Given the description of an element on the screen output the (x, y) to click on. 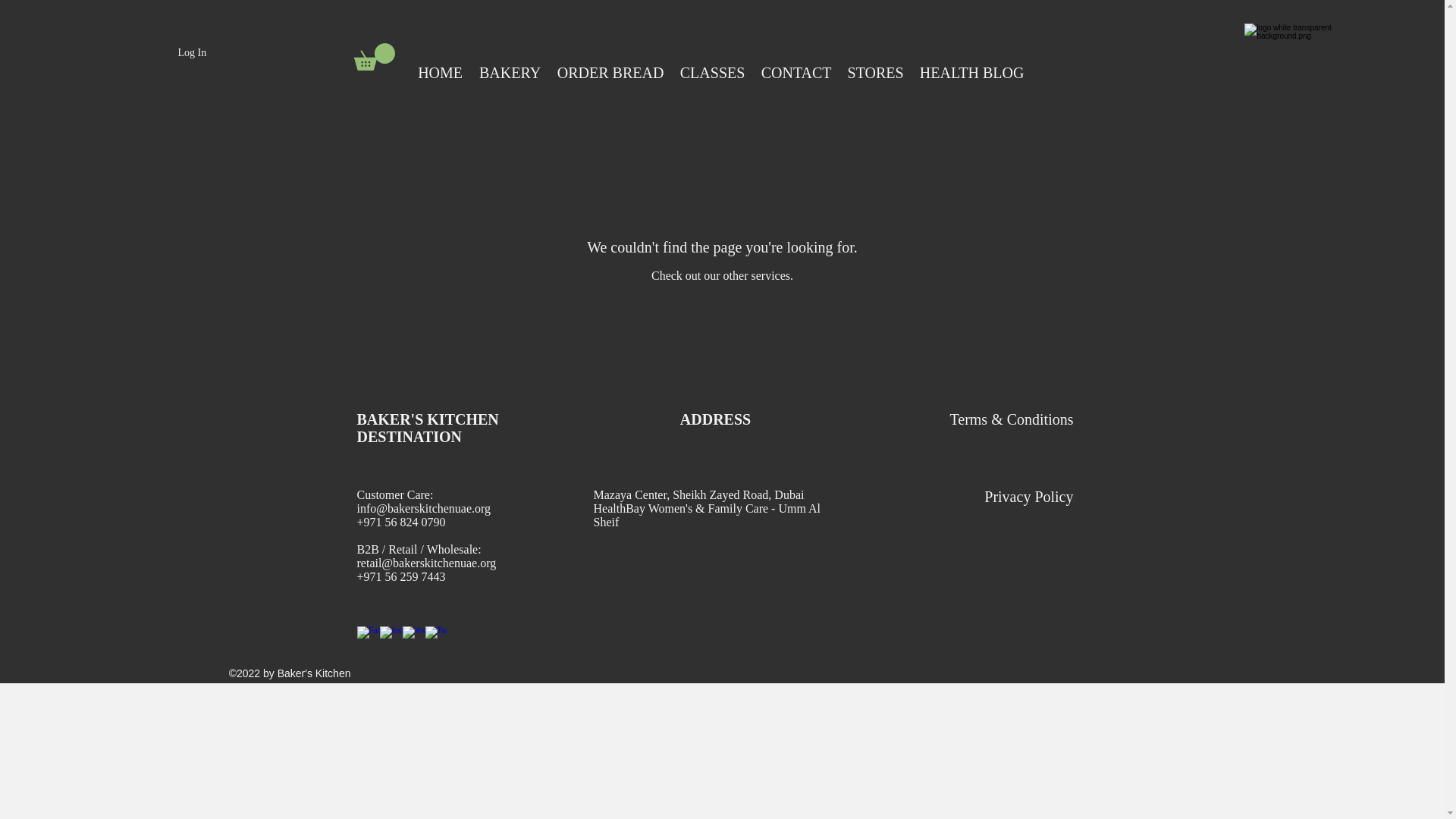
CLASSES (711, 72)
HOME (439, 72)
Log In (191, 52)
BAKERY (509, 72)
STORES (875, 72)
CONTACT (796, 72)
ORDER BREAD (609, 72)
HEALTH BLOG (971, 72)
